Given the description of an element on the screen output the (x, y) to click on. 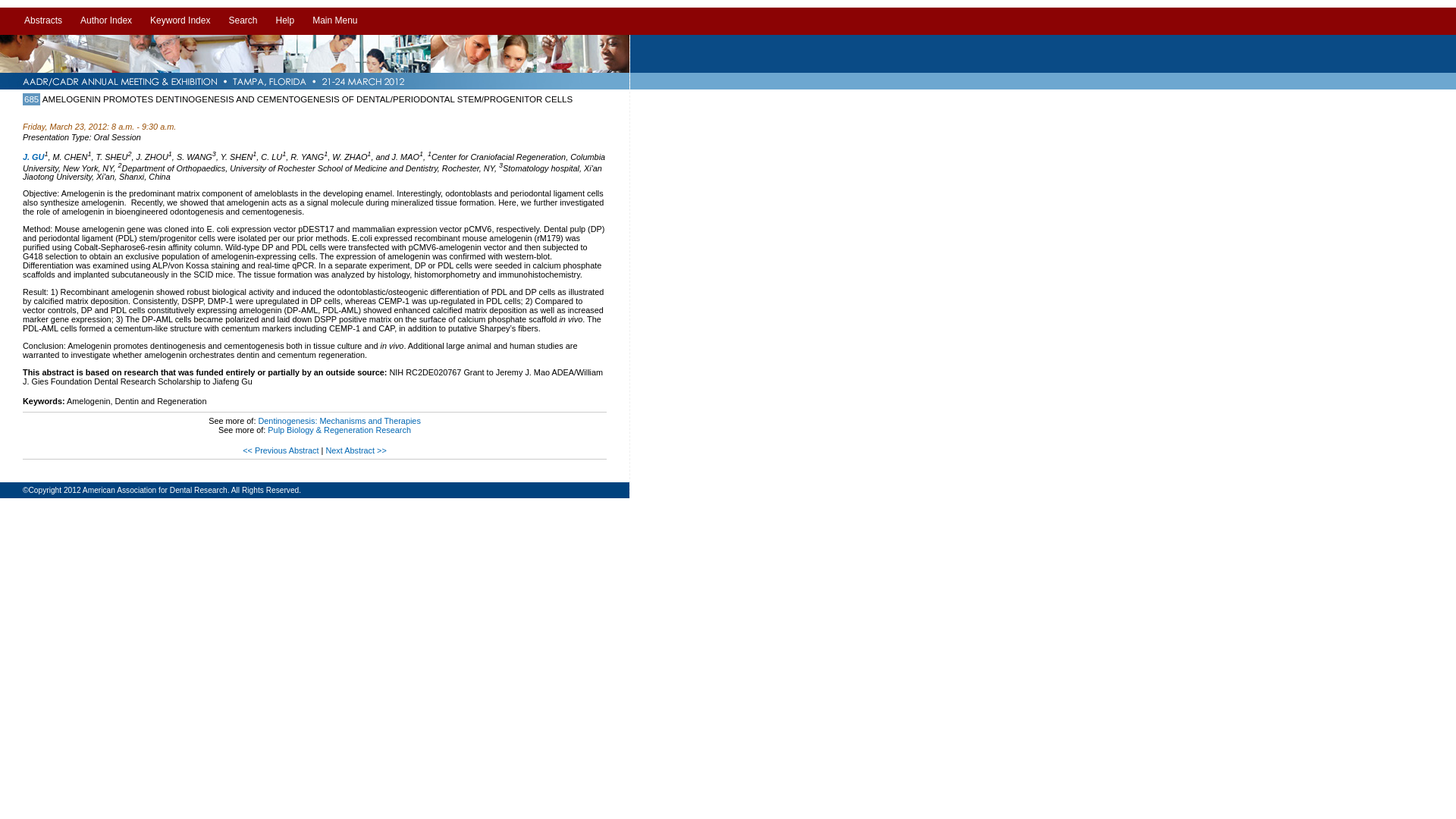
Keyword Index (180, 21)
Dentinogenesis: Mechanisms and Therapies (338, 420)
Author Index (106, 21)
Search (242, 21)
Abstracts (42, 21)
Main Menu (334, 21)
Help (284, 21)
J. GU (33, 156)
